Given the description of an element on the screen output the (x, y) to click on. 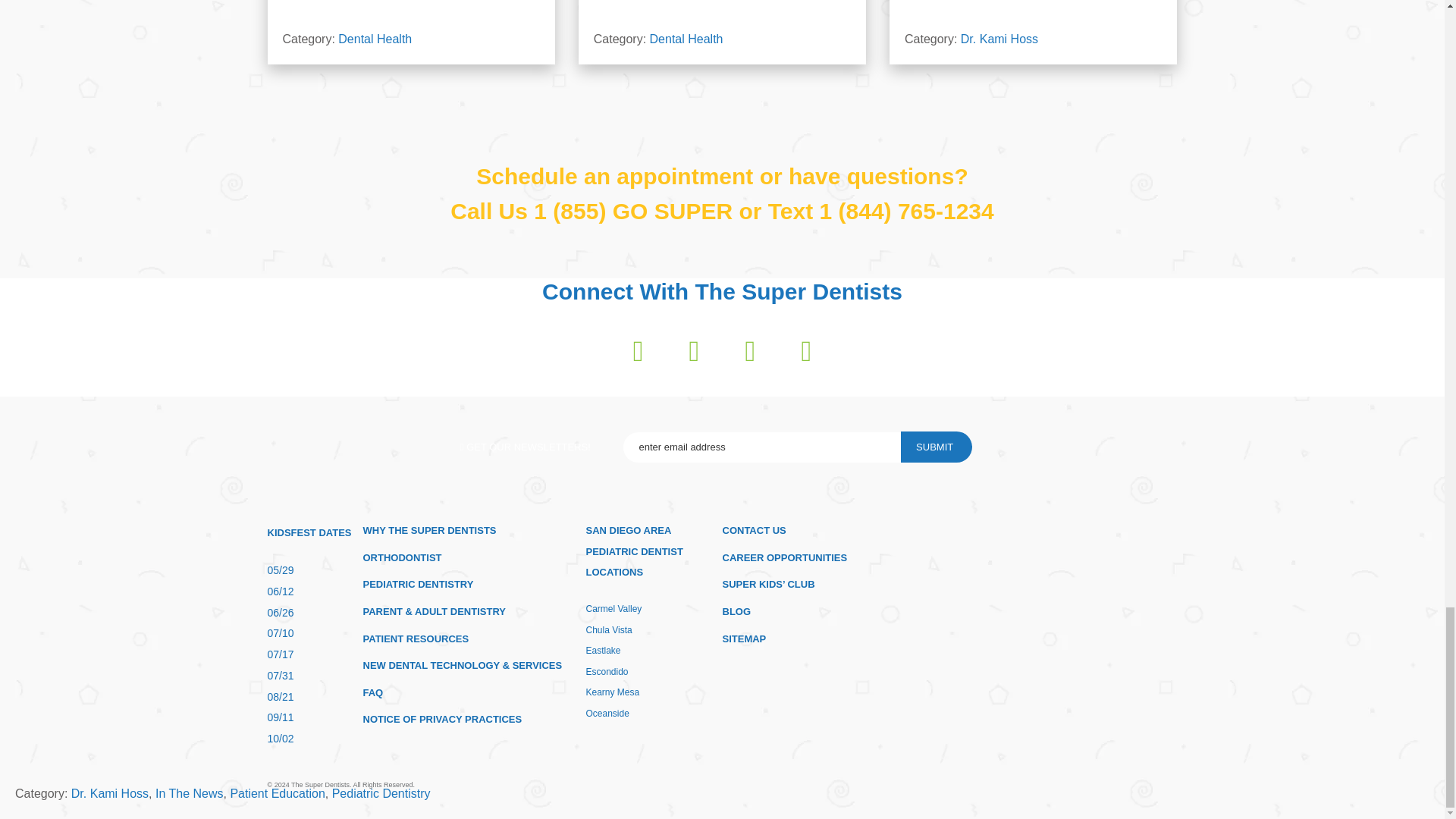
Submit (936, 446)
Dr. Kami Hoss (999, 38)
Dental Health (686, 38)
Dental Health (374, 38)
